Given the description of an element on the screen output the (x, y) to click on. 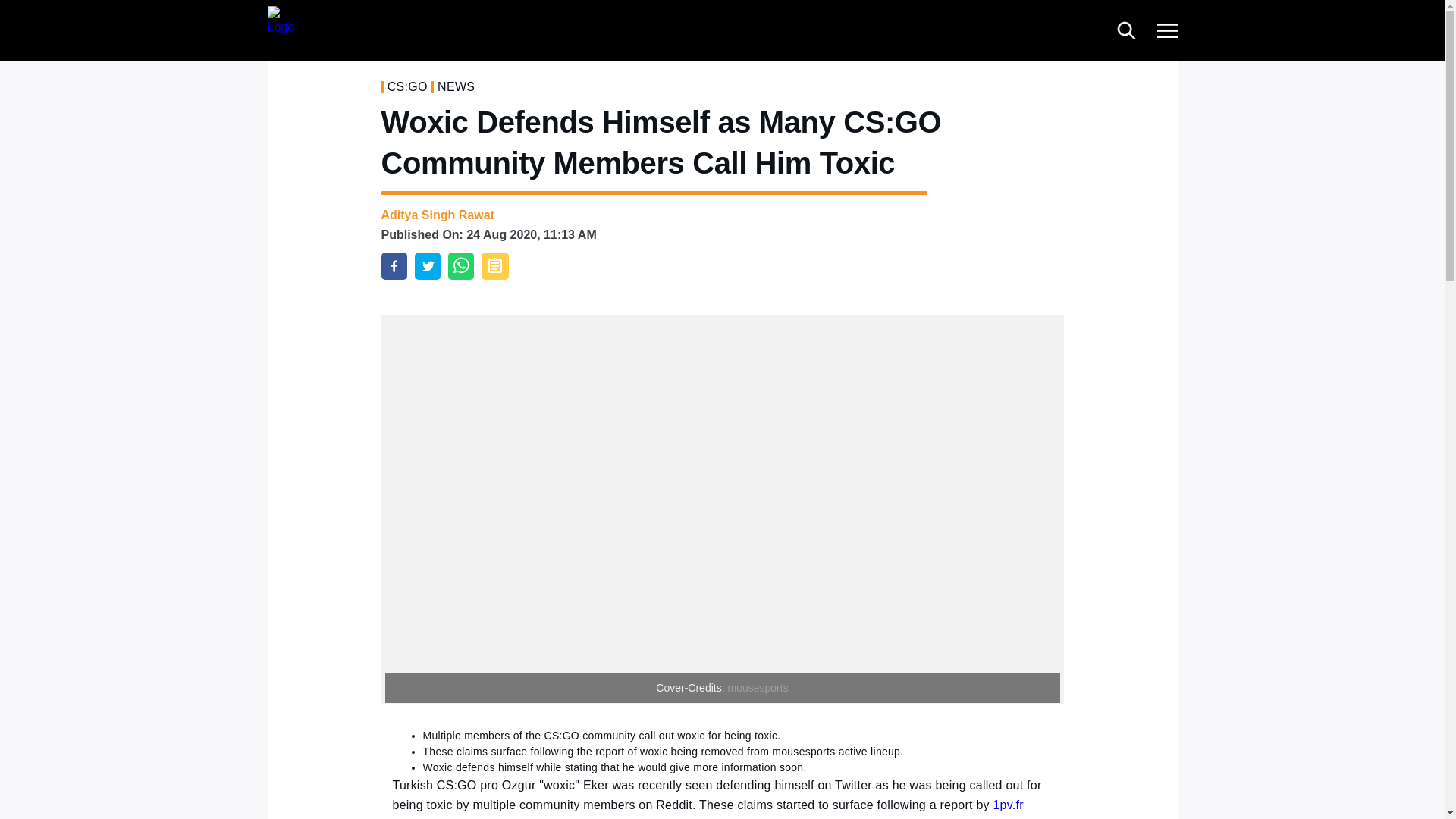
1pv.fr (1007, 804)
CS:GO (407, 87)
NEWS (456, 87)
mousesports (756, 687)
Aditya Singh Rawat (436, 214)
